Given the description of an element on the screen output the (x, y) to click on. 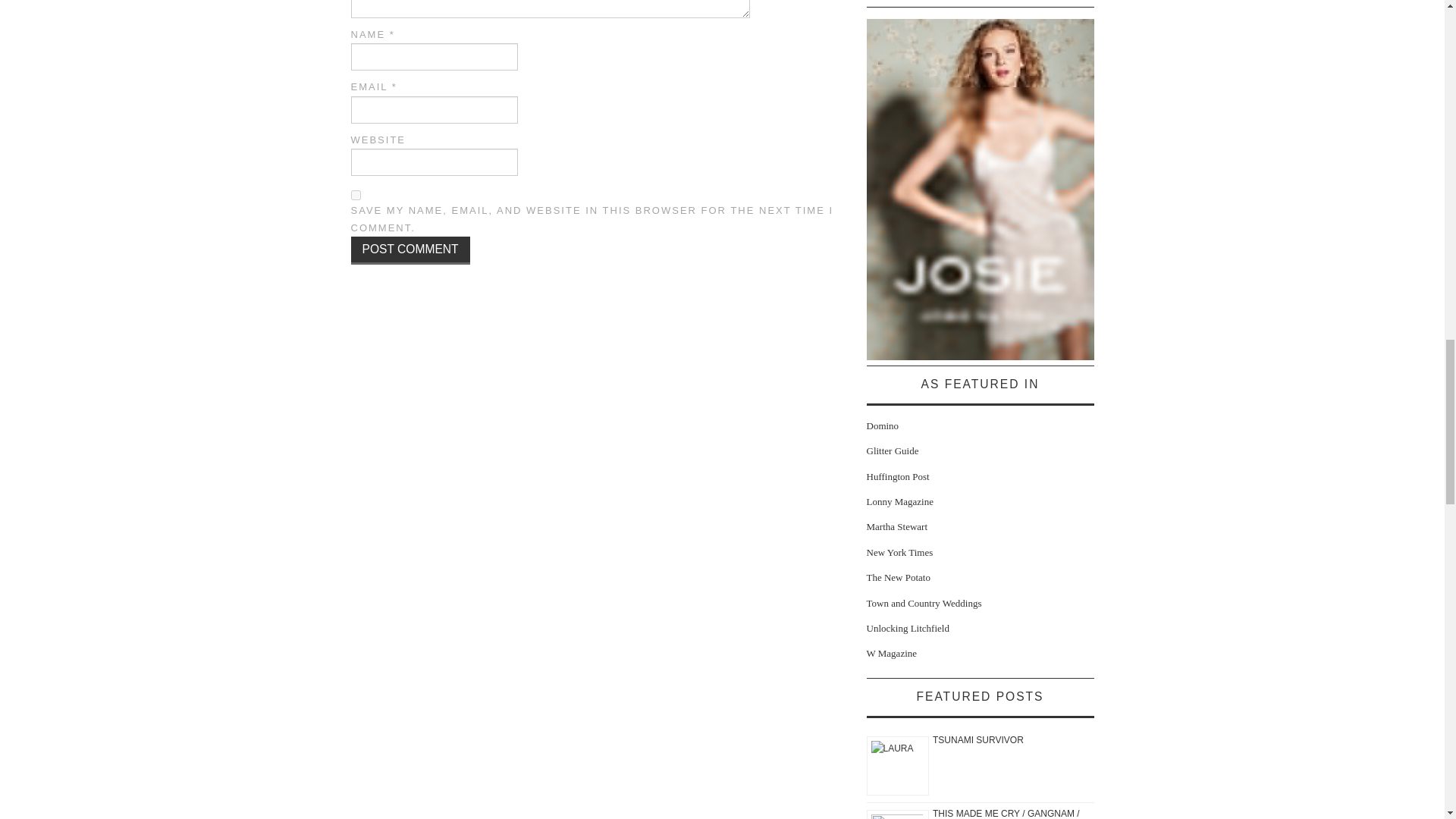
Glitter Guide (892, 450)
yes (354, 194)
Post Comment (409, 250)
Domino (882, 425)
Huffington Post (897, 476)
Post Comment (409, 250)
Lonny Magazine (899, 501)
